Given the description of an element on the screen output the (x, y) to click on. 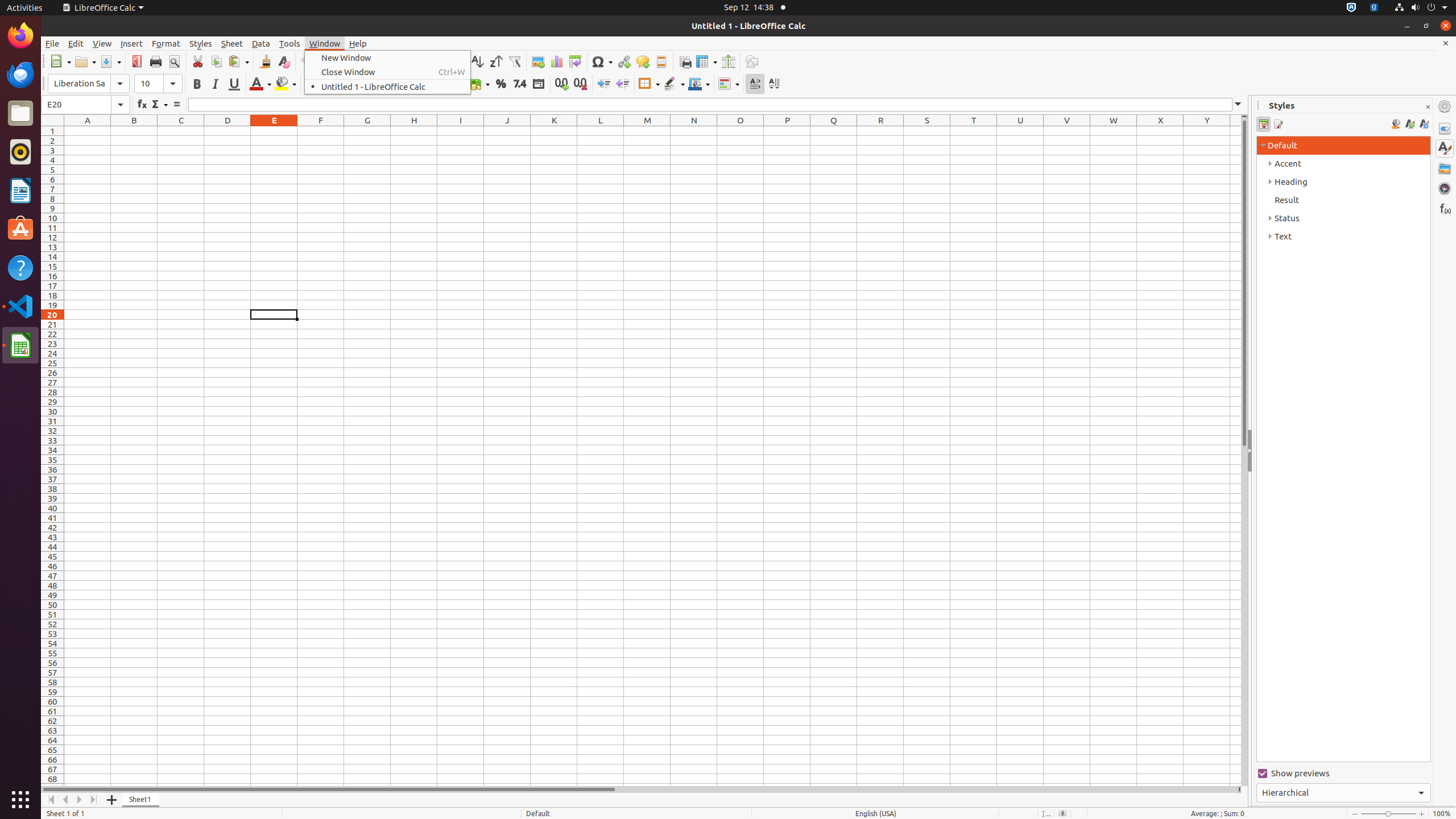
View Element type: menu (102, 43)
Conditional Element type: push-button (728, 83)
B1 Element type: table-cell (133, 130)
Font Color Element type: push-button (260, 83)
New Window Element type: menu-item (387, 57)
